Given the description of an element on the screen output the (x, y) to click on. 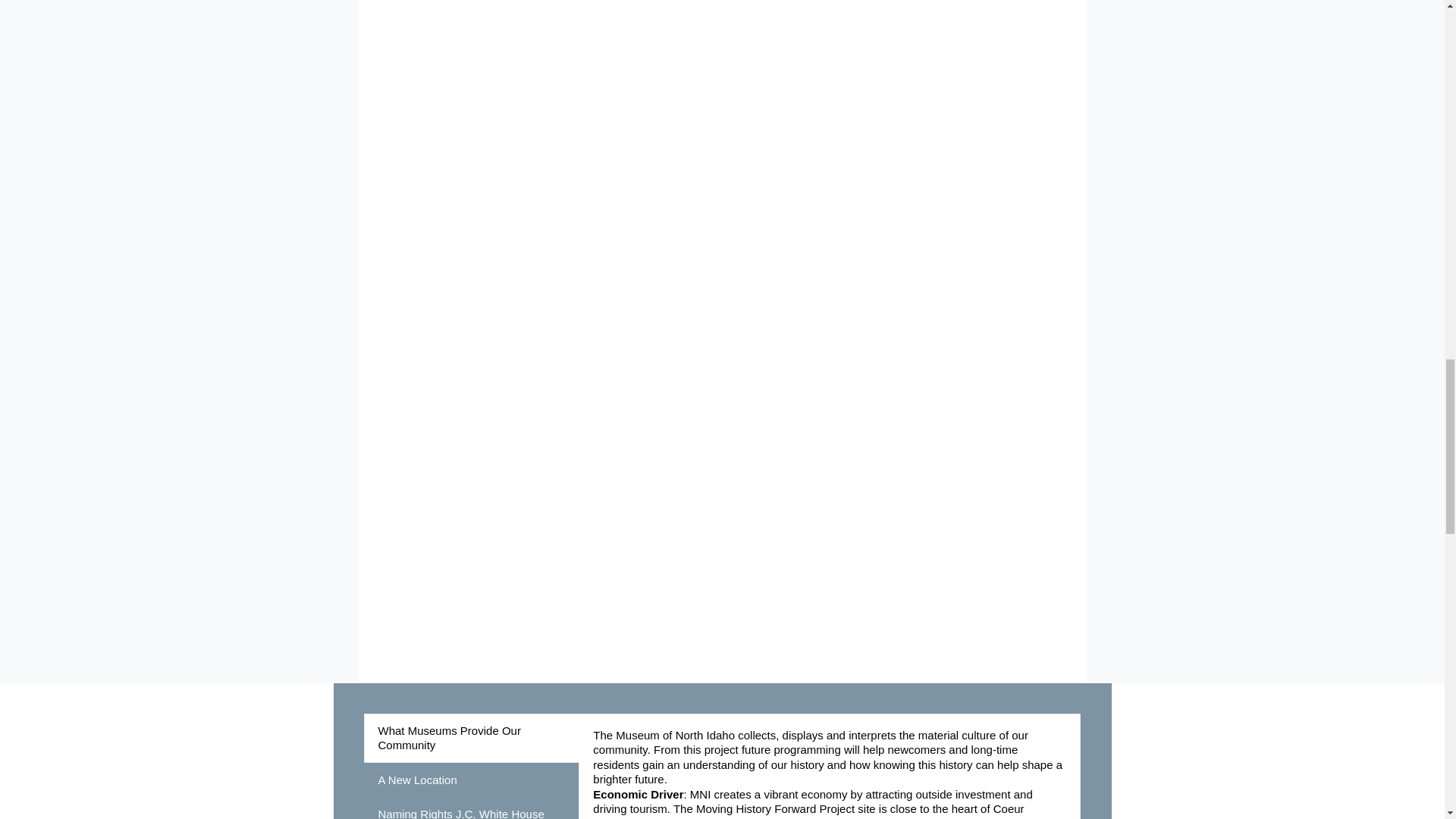
A New Location (471, 779)
Naming Rights J.C. White House (471, 807)
What Museums Provide Our Community (471, 737)
